Given the description of an element on the screen output the (x, y) to click on. 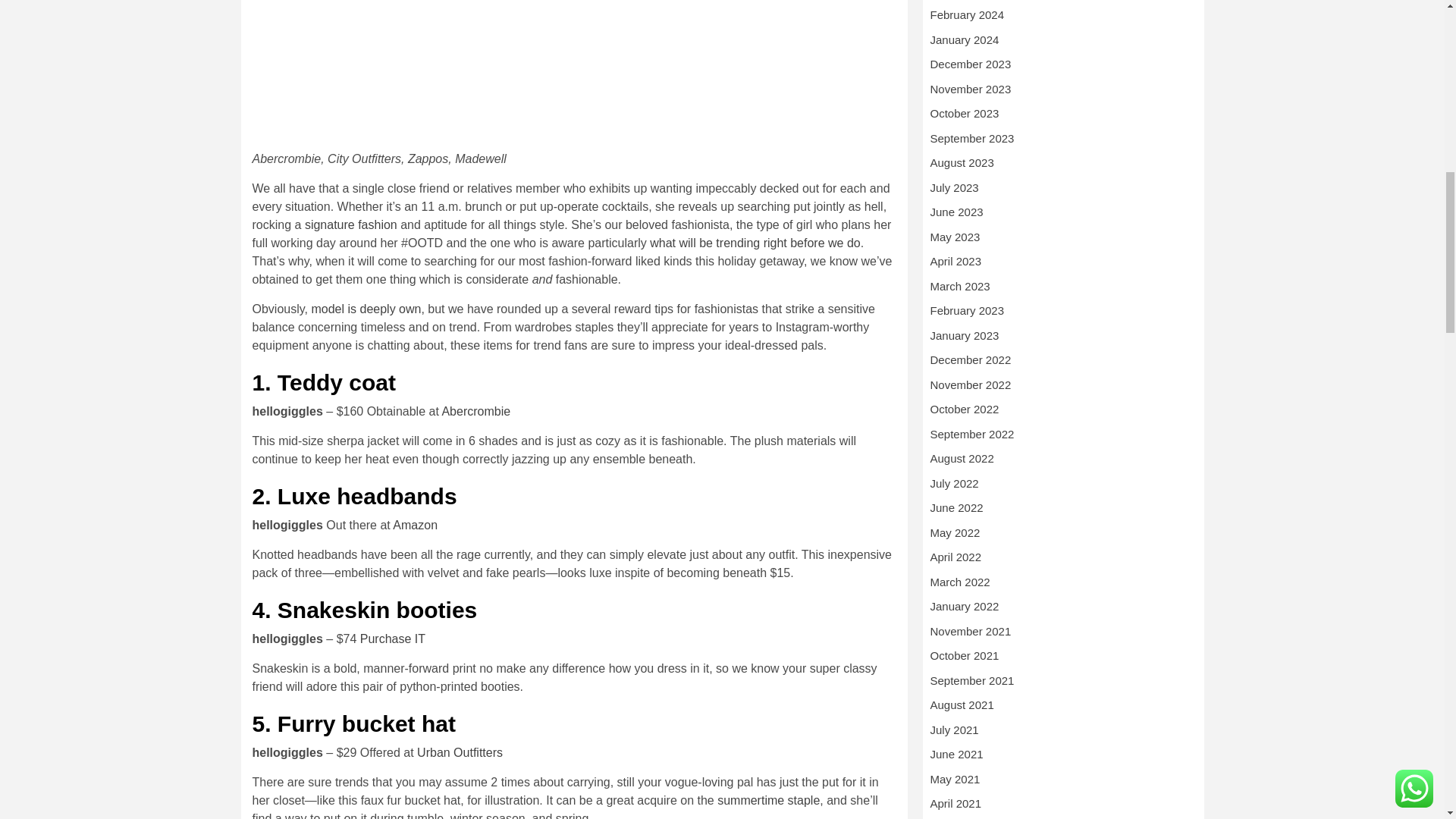
Urban Outfitters (459, 752)
signature fashion (350, 224)
Amazon (415, 524)
Abercrombie (476, 410)
summertime staple (768, 799)
Purchase IT (392, 638)
what will be trending right before we do (754, 242)
model is deeply own (365, 308)
